Given the description of an element on the screen output the (x, y) to click on. 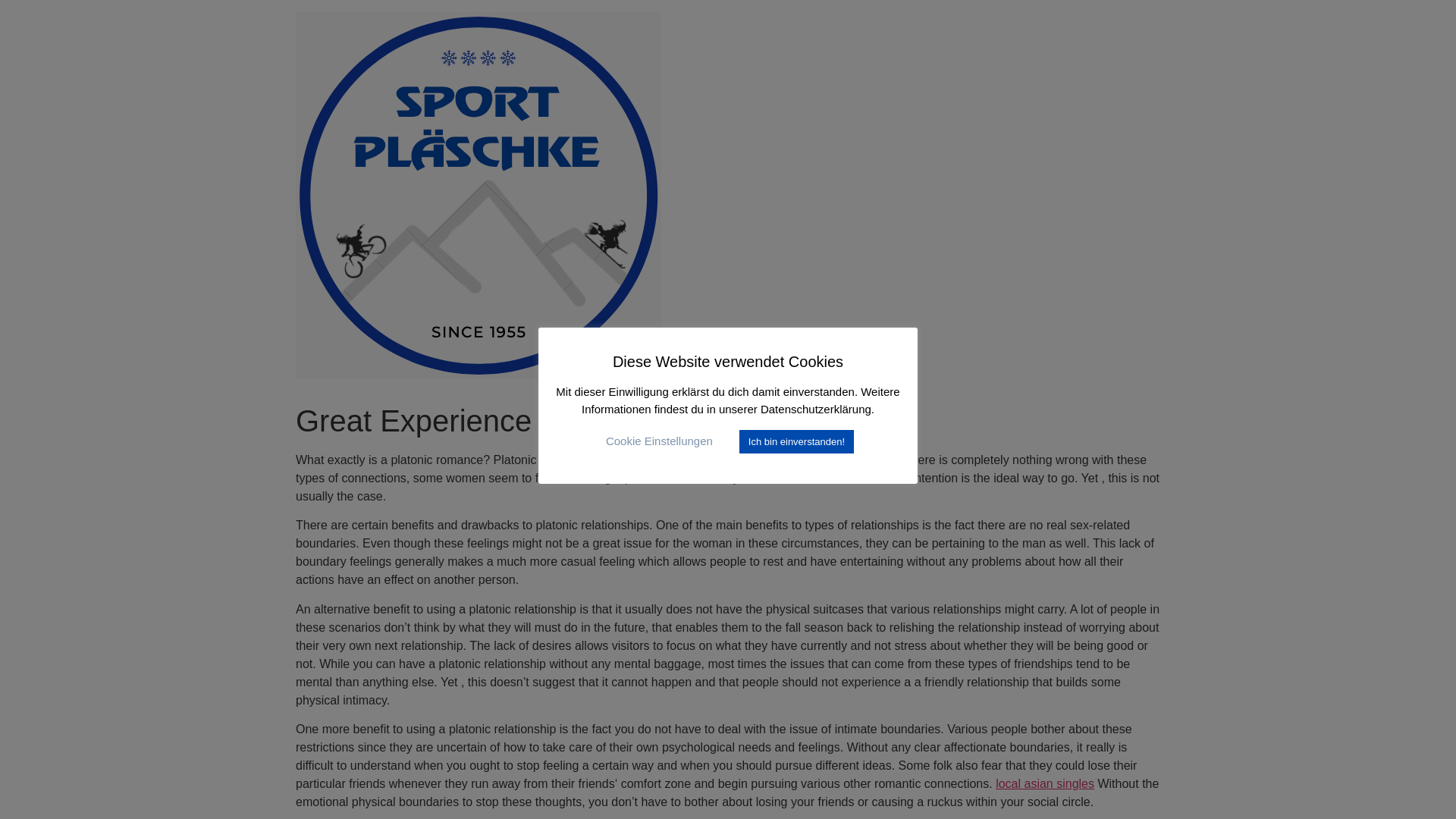
Cookie Einstellungen (659, 440)
Ich bin einverstanden! (796, 441)
local asian singles (1044, 783)
